Given the description of an element on the screen output the (x, y) to click on. 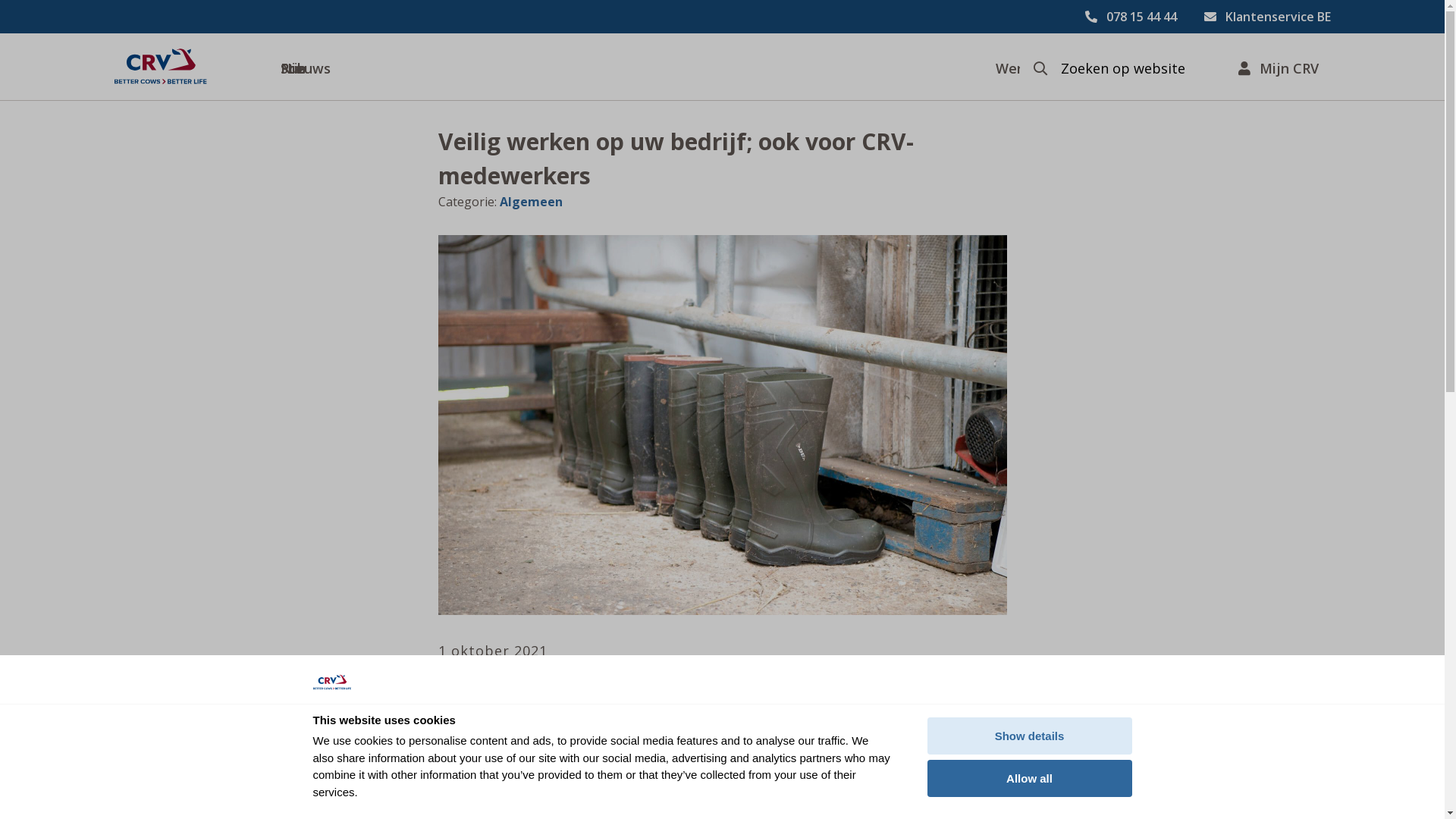
Mijn CRV Element type: text (1277, 66)
Werken bij CRV Element type: text (995, 66)
Nieuws Element type: text (613, 66)
078 15 44 44 Element type: text (1130, 16)
Show details Element type: text (1028, 735)
Zoeken op website Element type: text (1122, 68)
Klantenservice BE Element type: text (1267, 16)
Stierenaanbod Element type: text (280, 66)
Algemeen Element type: text (529, 201)
Home Element type: hover (159, 66)
Allow all Element type: text (1028, 778)
